Given the description of an element on the screen output the (x, y) to click on. 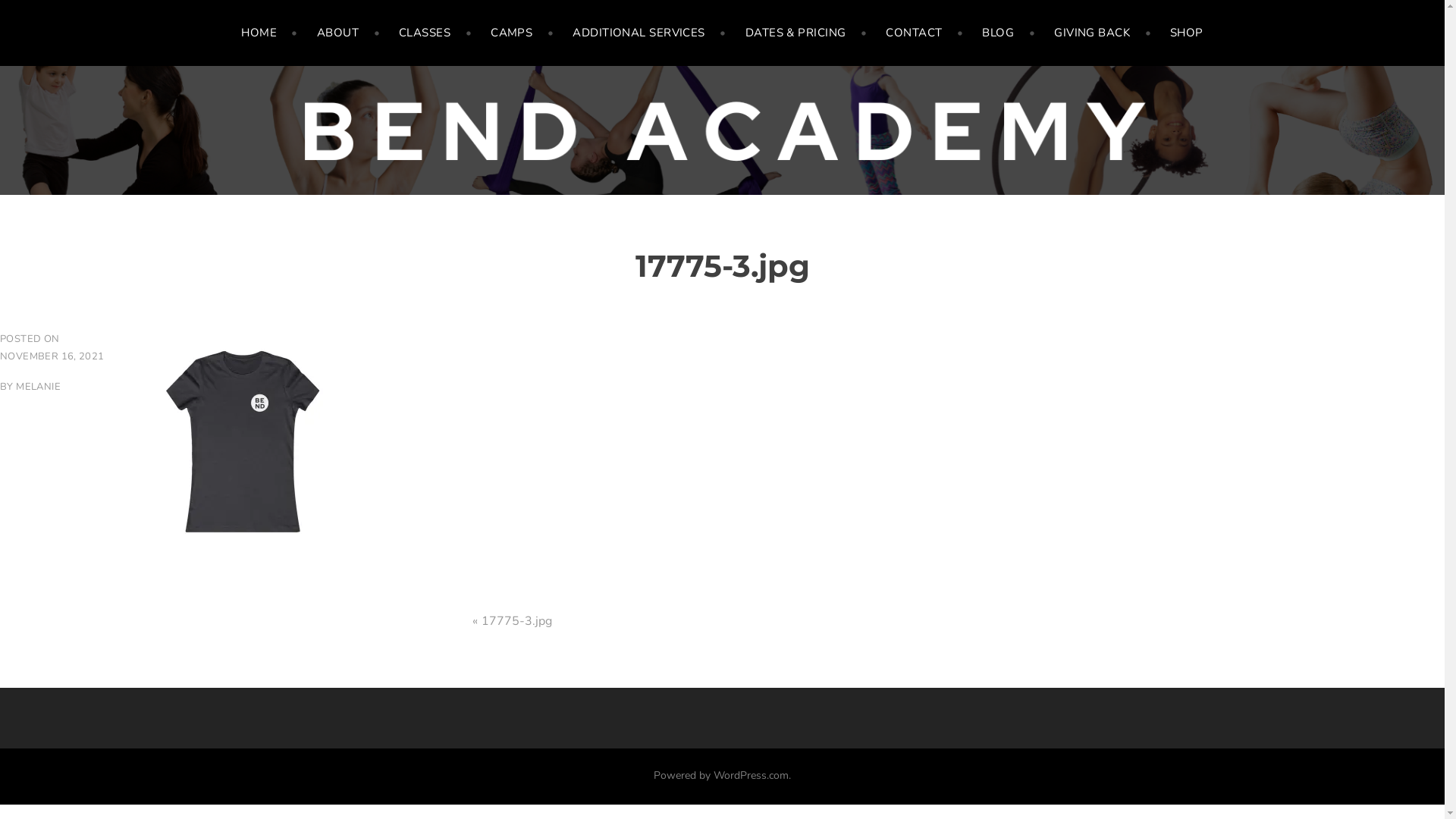
GIVING BACK Element type: text (1102, 32)
HOME Element type: text (269, 32)
MELANIE Element type: text (37, 386)
SHOP Element type: text (1186, 32)
ADDITIONAL SERVICES Element type: text (648, 32)
DATES & PRICING Element type: text (806, 32)
CAMPS Element type: text (521, 32)
BLOG Element type: text (1008, 32)
CONTACT Element type: text (924, 32)
BEND ACADEMY Element type: text (152, 156)
CLASSES Element type: text (434, 32)
Powered by WordPress.com Element type: text (720, 775)
ABOUT Element type: text (347, 32)
17775-3.jpg Element type: text (515, 620)
NOVEMBER 16, 2021 Element type: text (52, 356)
